Given the description of an element on the screen output the (x, y) to click on. 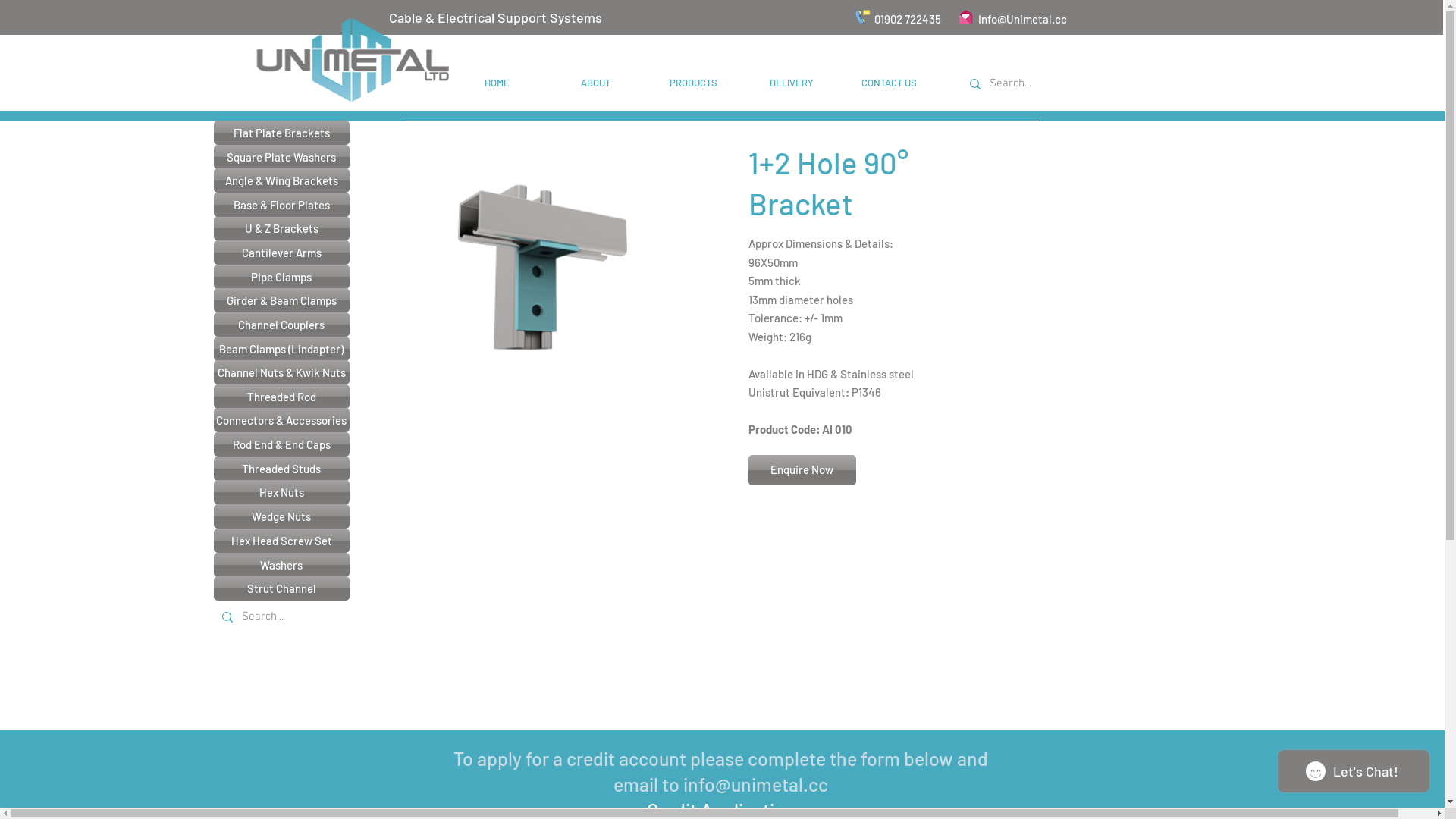
ABOUT Element type: text (595, 82)
Wix Chat Element type: hover (1357, 774)
U & Z Brackets Element type: text (281, 228)
CONTACT US Element type: text (888, 82)
Hex Head Screw Set Element type: text (281, 540)
Threaded Studs Element type: text (281, 468)
Channel Nuts & Kwik Nuts Element type: text (281, 372)
Rod End & End Caps Element type: text (281, 444)
Strut Channel Element type: text (281, 588)
Girder & Beam Clamps Element type: text (281, 300)
Flat Plate Brackets Element type: text (281, 132)
Info@Unimetal.cc Element type: text (1022, 18)
Beam Clamps (Lindapter) Element type: text (281, 348)
Hex Nuts Element type: text (281, 492)
PRODUCTS Element type: text (692, 82)
Threaded Rod Element type: text (281, 396)
Cantilever Arms Element type: text (281, 252)
Base & Floor Plates Element type: text (281, 204)
Square Plate Washers Element type: text (281, 156)
DELIVERY Element type: text (791, 82)
Wedge Nuts Element type: text (281, 516)
Enquire Now Element type: text (801, 470)
Angle & Wing Brackets Element type: text (281, 180)
Washers Element type: text (281, 564)
Pipe Clamps Element type: text (281, 276)
info@unimetal.cc Element type: text (755, 783)
Channel Couplers Element type: text (281, 324)
HOME Element type: text (496, 82)
Connectors & Accessories Element type: text (281, 419)
